Given the description of an element on the screen output the (x, y) to click on. 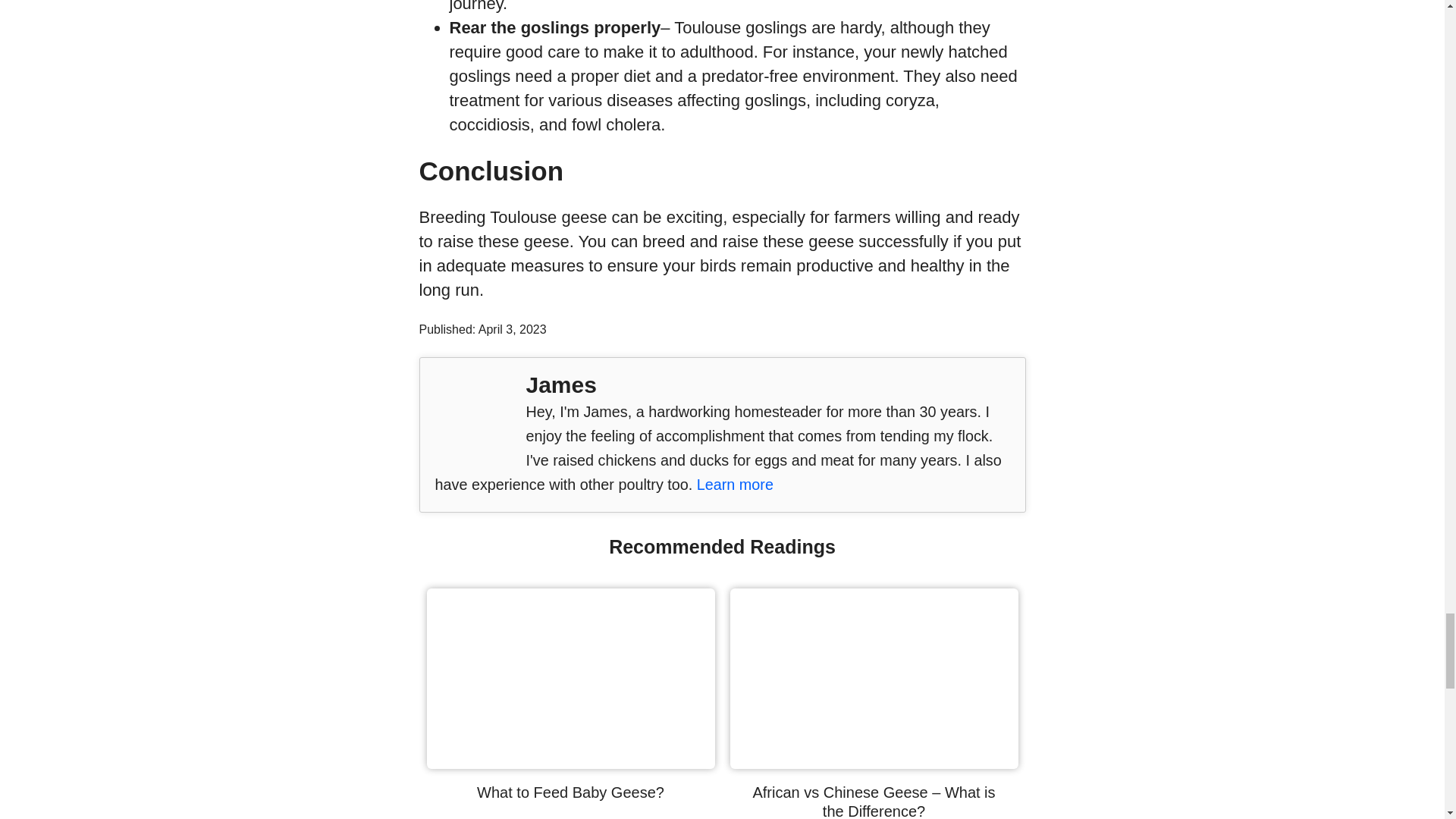
What to Feed Baby Geese? (570, 791)
Learn more (735, 484)
What to Feed Baby Geese? (570, 791)
What to Feed Baby Geese? (570, 763)
